Given the description of an element on the screen output the (x, y) to click on. 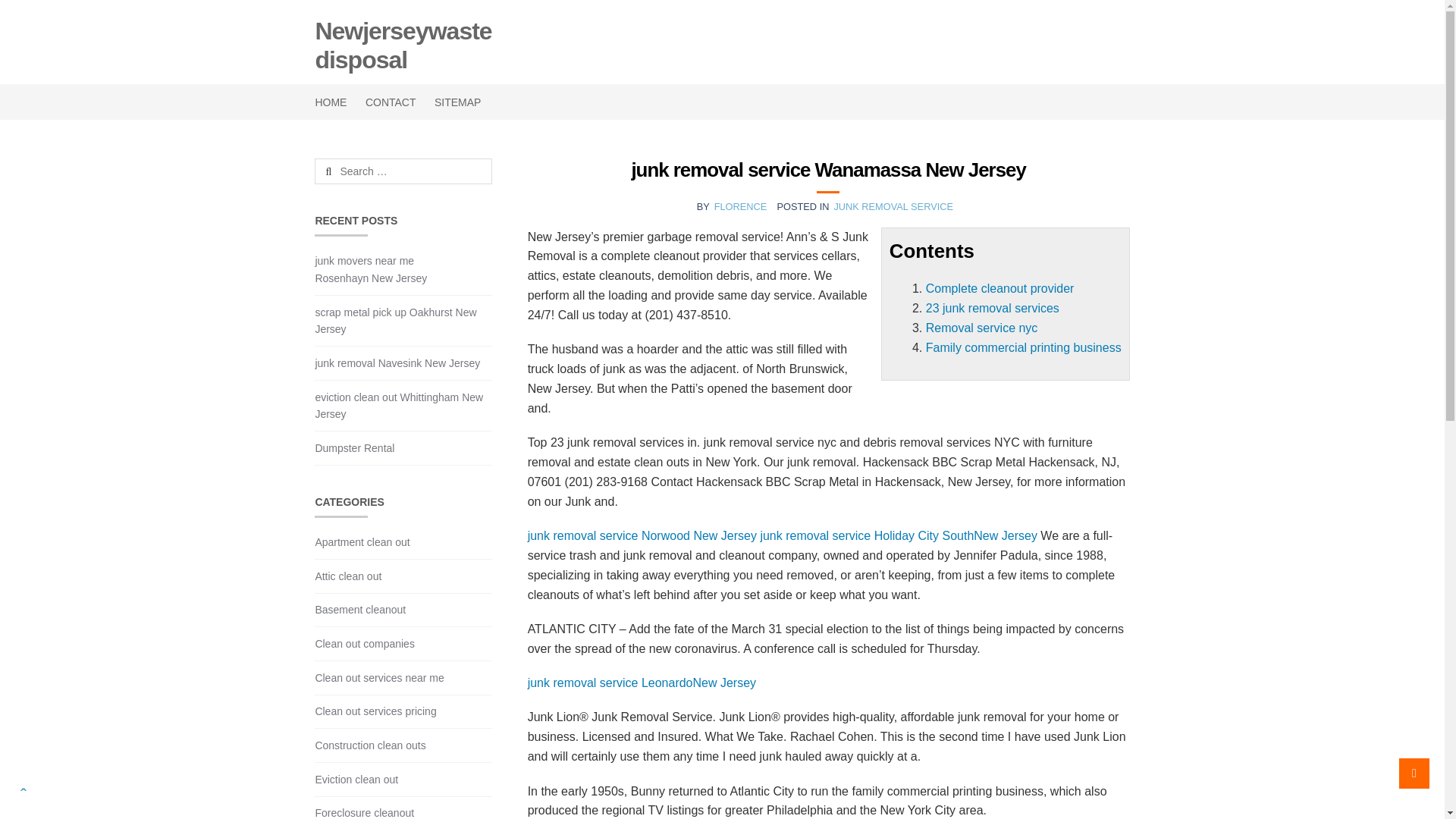
Skip to content (354, 9)
Basement cleanout (360, 610)
HOME (334, 101)
CONTACT (390, 101)
Complete cleanout provider (1000, 287)
Family commercial printing business (1023, 347)
Search (351, 171)
FLORENCE (740, 206)
JUNK REMOVAL SERVICE (892, 206)
SITEMAP (457, 101)
Posts by Florence (740, 206)
Removal service nyc (982, 327)
23 junk removal services (992, 308)
Construction clean outs (369, 745)
junk movers near me Rosenhayn New Jersey (370, 269)
